Given the description of an element on the screen output the (x, y) to click on. 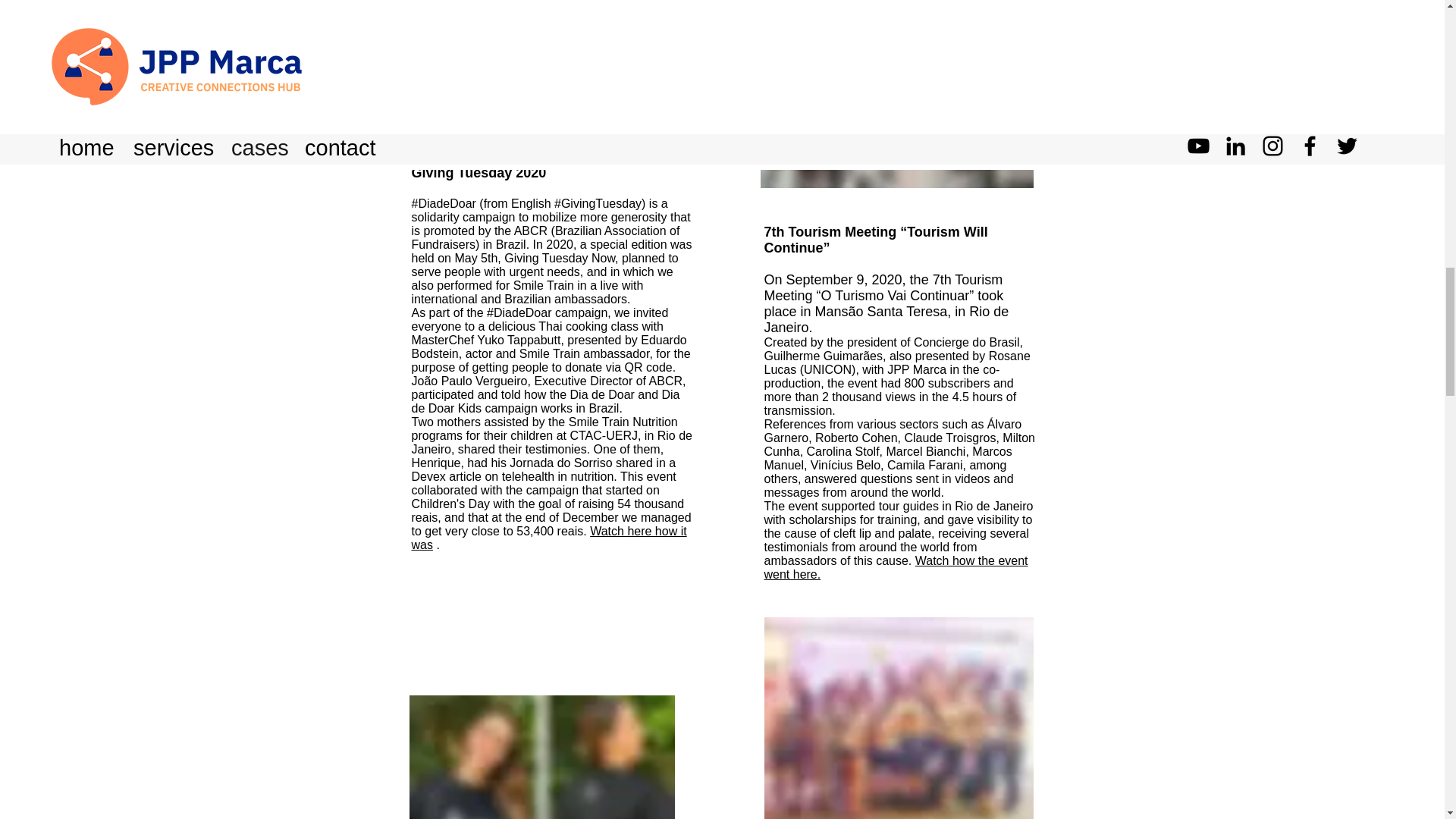
Watch here how it was (547, 537)
Watch how the event went here. (895, 567)
